Given the description of an element on the screen output the (x, y) to click on. 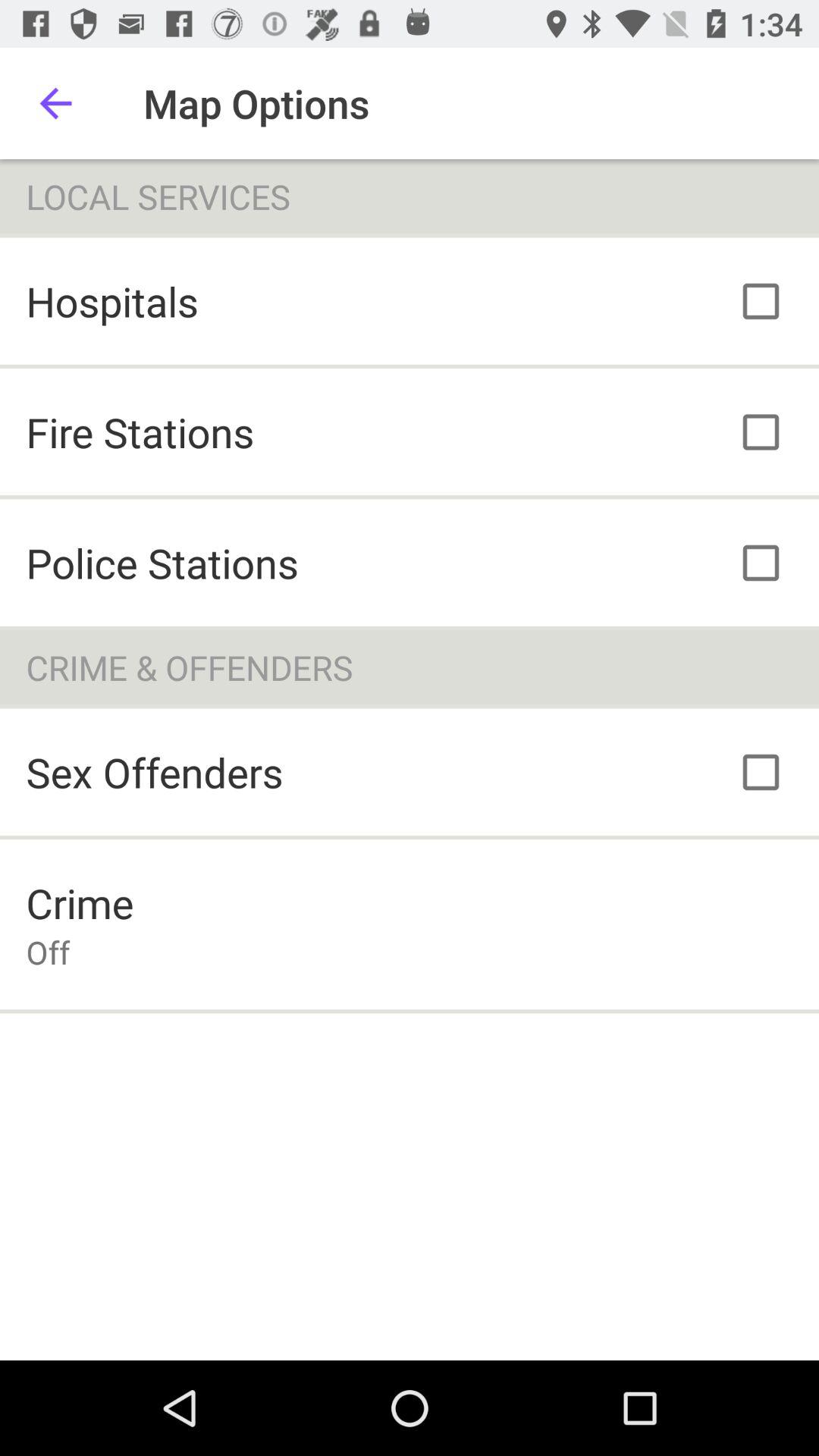
swipe until the police stations item (162, 562)
